Given the description of an element on the screen output the (x, y) to click on. 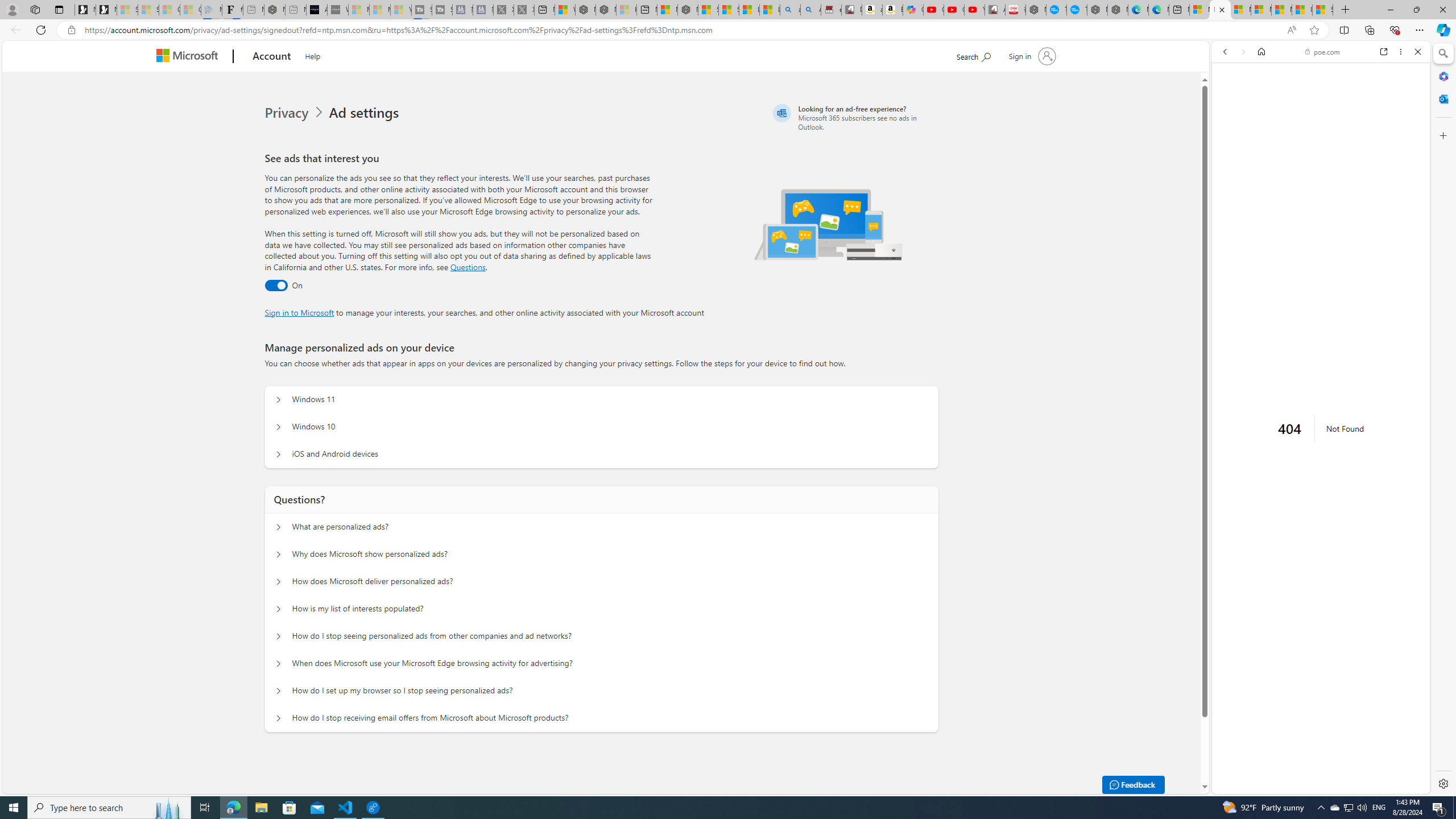
Help (312, 54)
Amazon Echo Dot PNG - Search Images (809, 9)
Search Filter, VIDEOS (1300, 129)
WEB   (1230, 130)
AI Voice Changer for PC and Mac - Voice.ai (316, 9)
Search Filter, Search Tools (1350, 129)
Settings (1442, 783)
Ad settings (366, 112)
